Given the description of an element on the screen output the (x, y) to click on. 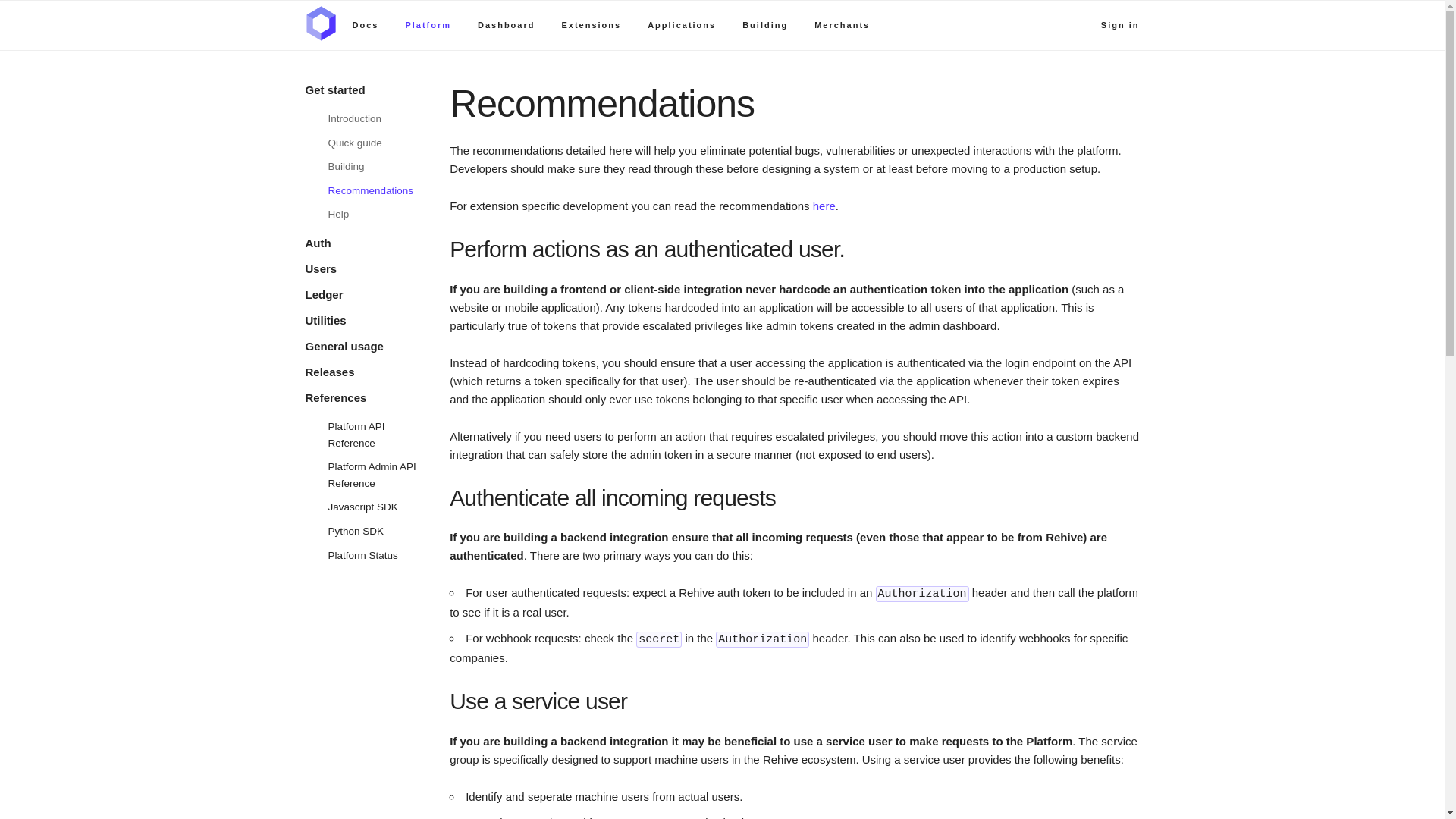
Introduction (354, 118)
Get started (334, 89)
Platform (427, 24)
Building (764, 24)
Applications (681, 24)
Sign in (1120, 24)
Help (338, 214)
Ledger (323, 294)
Merchants (841, 24)
Users (320, 268)
Building (345, 165)
Quick guide (354, 142)
Docs (365, 24)
Extensions (590, 24)
Auth (317, 242)
